Given the description of an element on the screen output the (x, y) to click on. 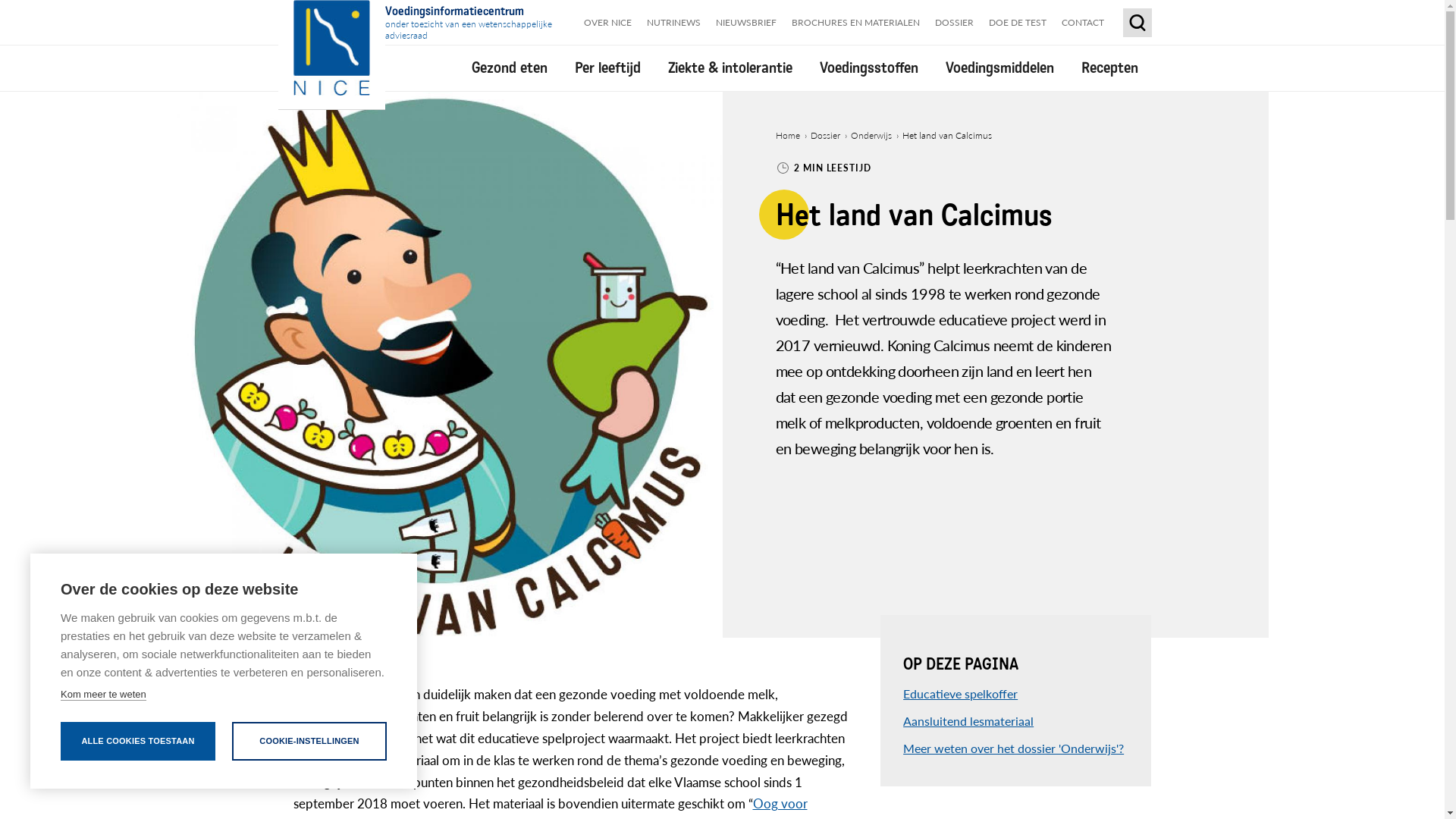
Gezond eten Element type: text (509, 68)
Recepten Element type: text (1109, 68)
Dossier Element type: text (824, 134)
Voedingsstoffen Element type: text (868, 68)
COOKIE-INSTELLINGEN Element type: text (309, 740)
Land van calcimus Element type: hover (448, 364)
Meer weten over het dossier 'Onderwijs'? Element type: text (1013, 747)
Onderwijs Element type: text (870, 134)
Home Element type: text (787, 134)
Aansluitend lesmateriaal Element type: text (968, 720)
NIEUWSBRIEF Element type: text (745, 21)
Per leeftijd Element type: text (607, 68)
ALLE COOKIES TOESTAAN Element type: text (137, 740)
OVER NICE Element type: text (607, 21)
CONTACT Element type: text (1082, 21)
DOSSIER Element type: text (953, 21)
Overslaan en naar de inhoud gaan Element type: text (0, 0)
Ziekte & intolerantie Element type: text (729, 68)
BROCHURES EN MATERIALEN Element type: text (855, 21)
Kom meer te weten Element type: text (103, 694)
DOE DE TEST Element type: text (1017, 21)
NUTRINEWS Element type: text (672, 21)
Educatieve spelkoffer Element type: text (960, 693)
Voedingsmiddelen Element type: text (998, 68)
